Given the description of an element on the screen output the (x, y) to click on. 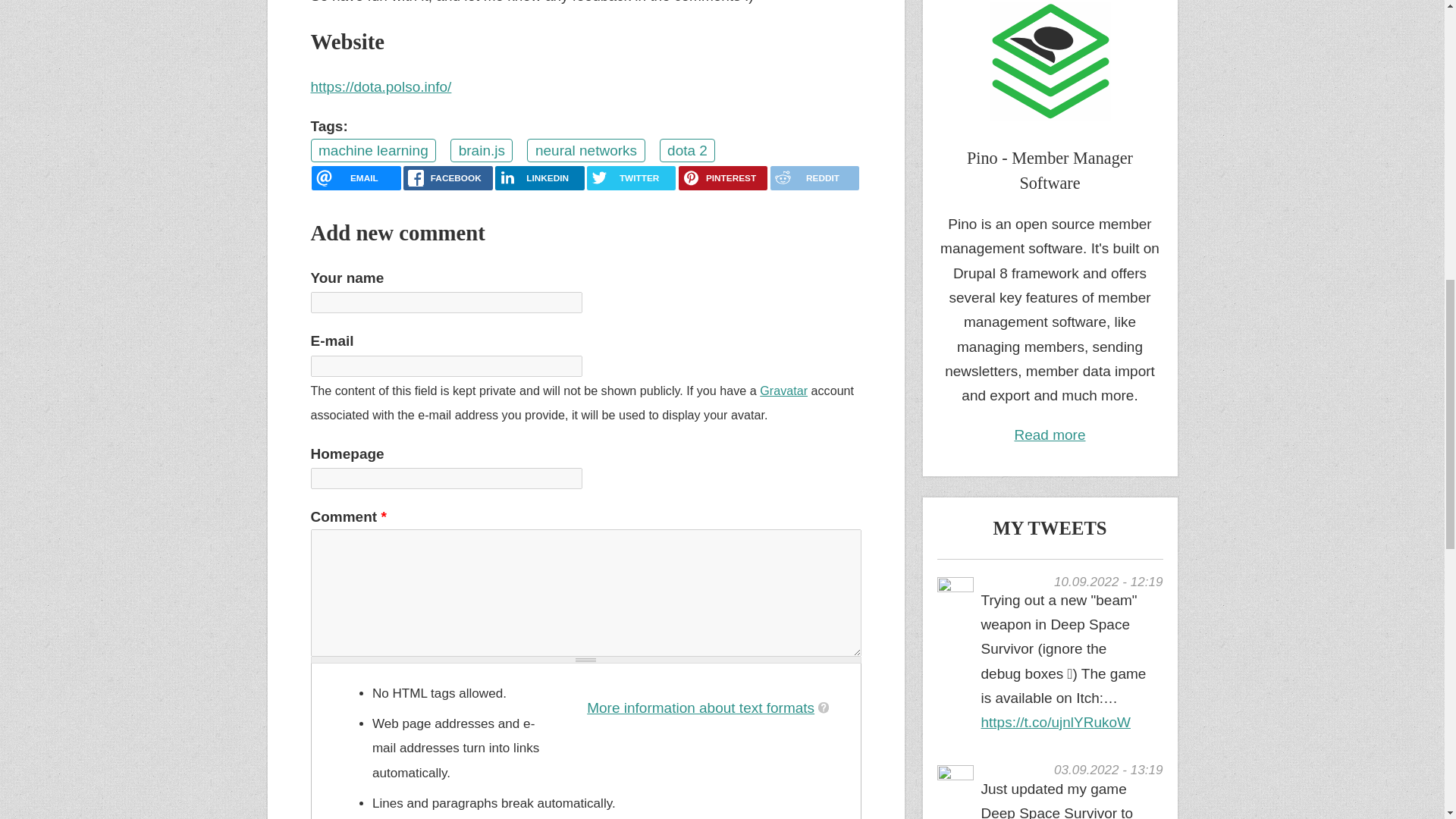
neural networks (586, 150)
REDDIT (814, 178)
brain.js (480, 150)
LINKEDIN (539, 178)
Read more (1050, 434)
EMAIL (355, 178)
FACEBOOK (447, 178)
This field is required. (382, 516)
Gravatar (784, 390)
PINTEREST (722, 178)
More information about text formats (700, 707)
dota 2 (687, 150)
machine learning (373, 150)
TWITTER (630, 178)
